Given the description of an element on the screen output the (x, y) to click on. 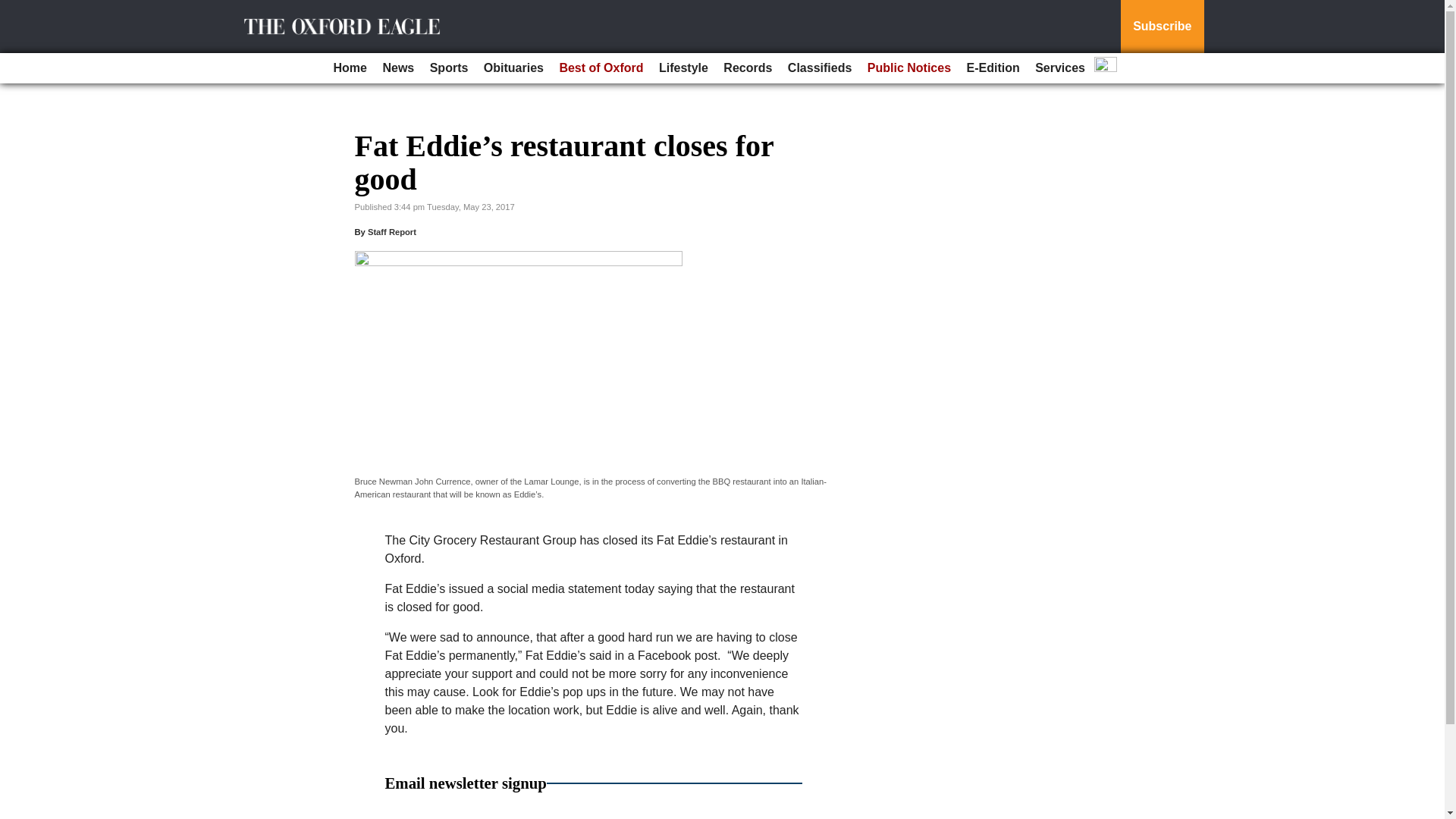
Home (349, 68)
Go (13, 9)
Subscribe (1162, 26)
Best of Oxford (601, 68)
News (397, 68)
Staff Report (392, 231)
Classifieds (819, 68)
Sports (448, 68)
Obituaries (513, 68)
Public Notices (908, 68)
